Given the description of an element on the screen output the (x, y) to click on. 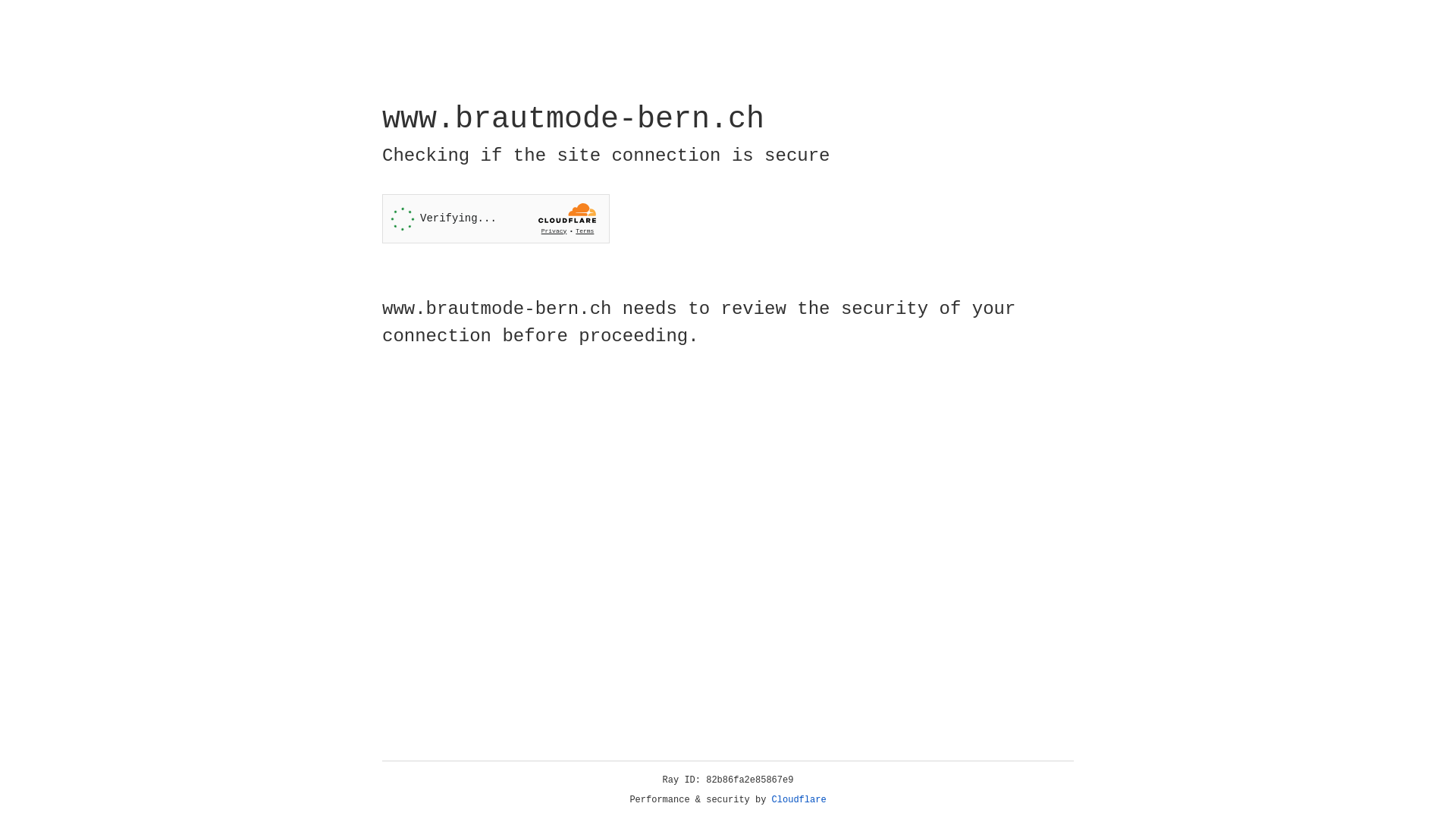
Cloudflare Element type: text (798, 799)
Widget containing a Cloudflare security challenge Element type: hover (495, 218)
